Given the description of an element on the screen output the (x, y) to click on. 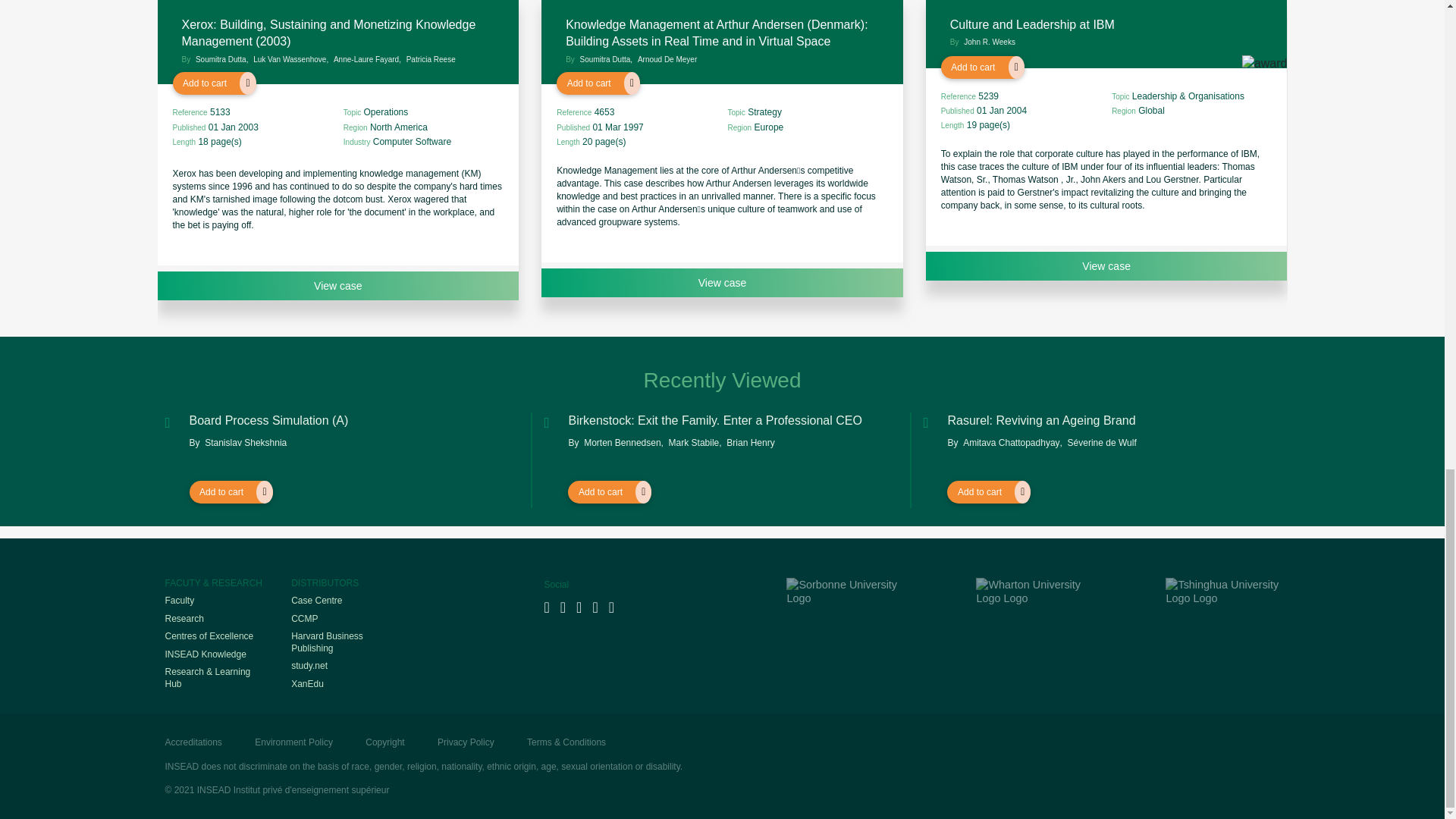
Award winning case (1264, 76)
